Given the description of an element on the screen output the (x, y) to click on. 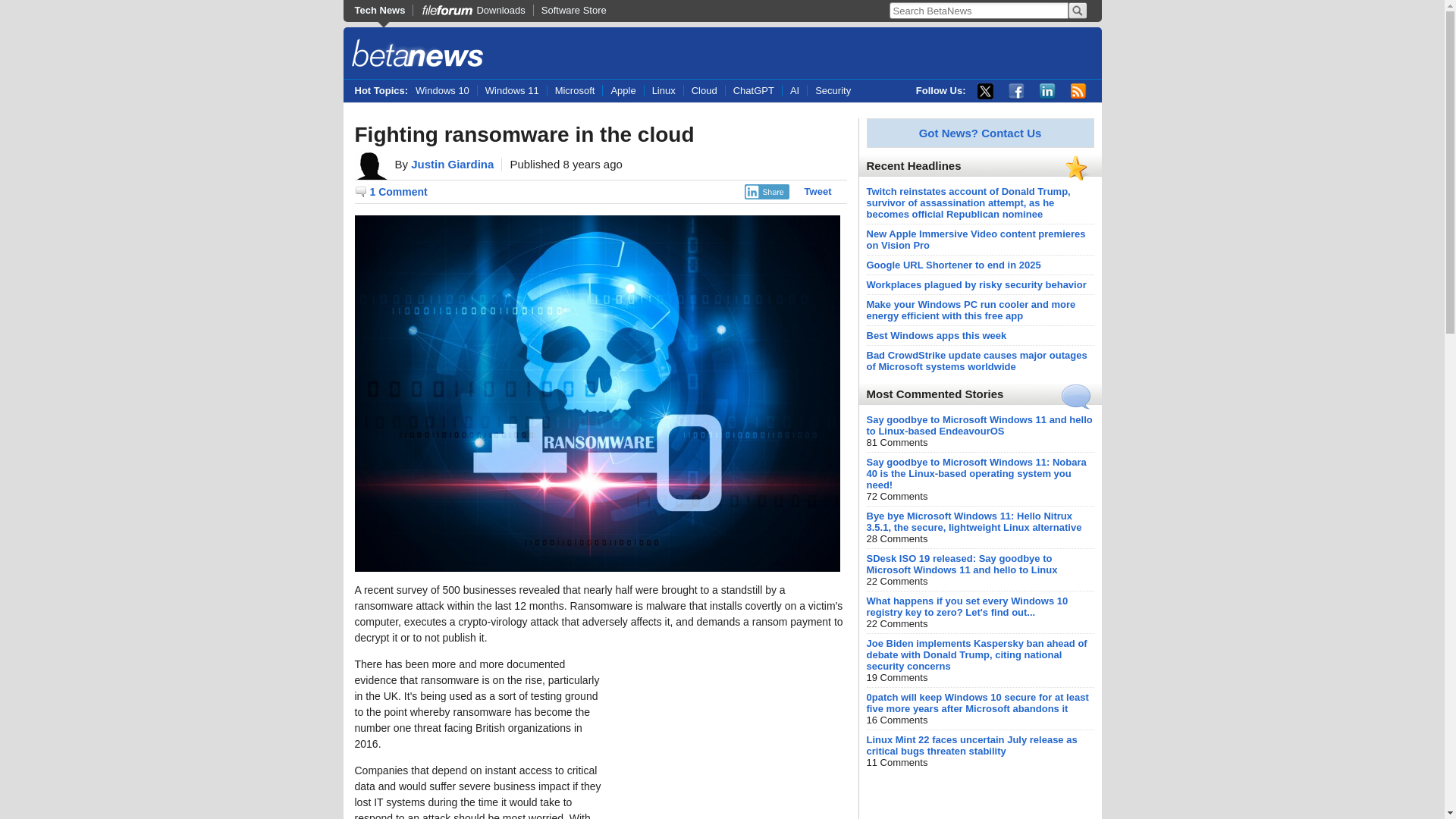
RSS (1078, 91)
Advertisement (731, 737)
1 Comment (391, 191)
Cloud (703, 90)
Facebook (1017, 91)
Linked-in (1046, 91)
Downloads (472, 9)
Search (1076, 10)
Share (766, 191)
Tech News (384, 9)
